Given the description of an element on the screen output the (x, y) to click on. 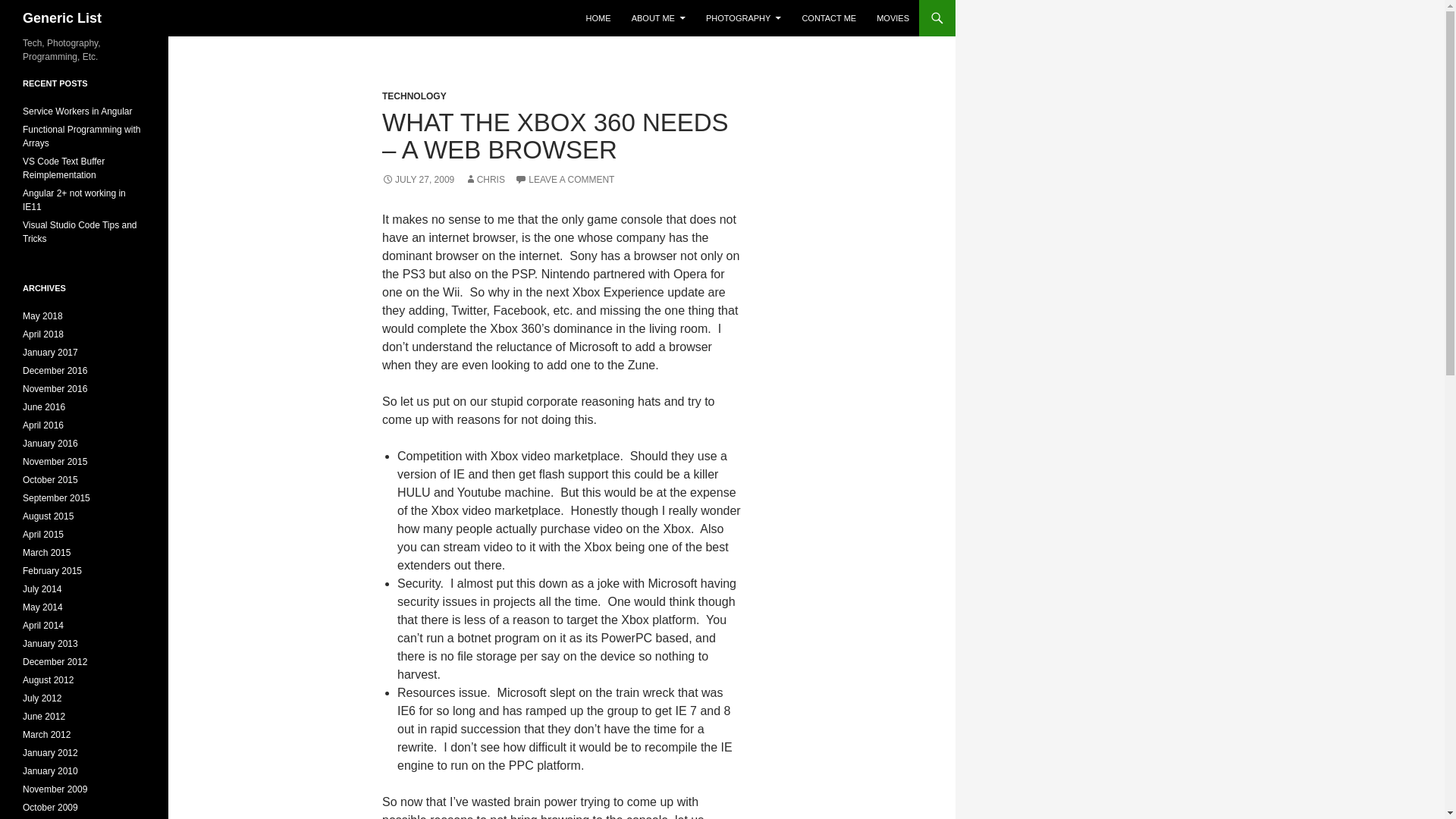
Functional Programming with Arrays (81, 136)
CONTACT ME (828, 18)
December 2016 (55, 370)
June 2016 (44, 407)
JULY 27, 2009 (417, 179)
January 2017 (50, 352)
Generic List (62, 18)
CHRIS (484, 179)
MOVIES (892, 18)
Visual Studio Code Tips and Tricks (79, 232)
PHOTOGRAPHY (743, 18)
April 2018 (43, 334)
May 2018 (42, 316)
VS Code Text Buffer Reimplementation (63, 168)
April 2016 (43, 425)
